Given the description of an element on the screen output the (x, y) to click on. 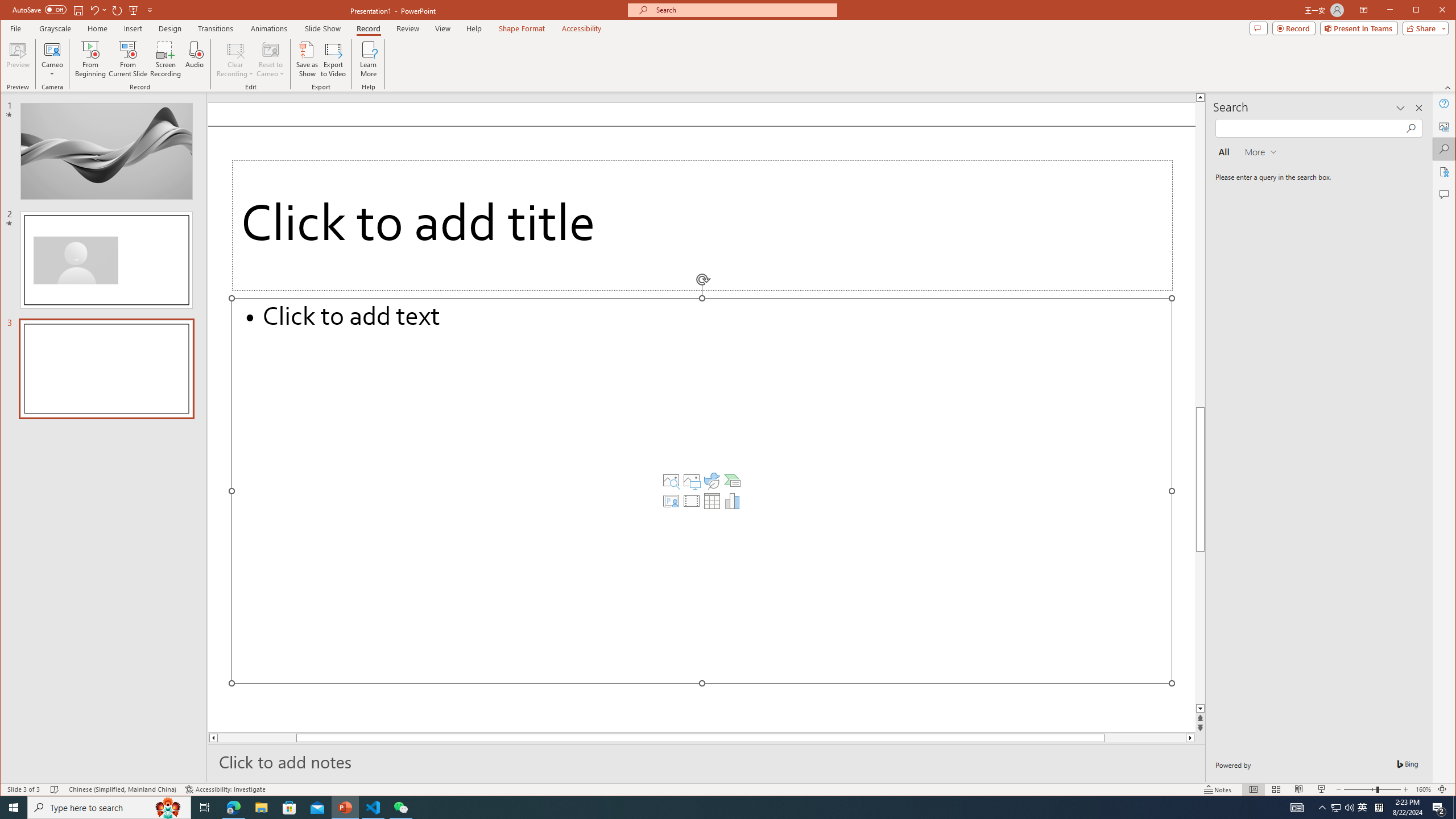
Grayscale (55, 28)
Content Placeholder (701, 490)
Export to Video (333, 59)
Screen Recording (165, 59)
